Given the description of an element on the screen output the (x, y) to click on. 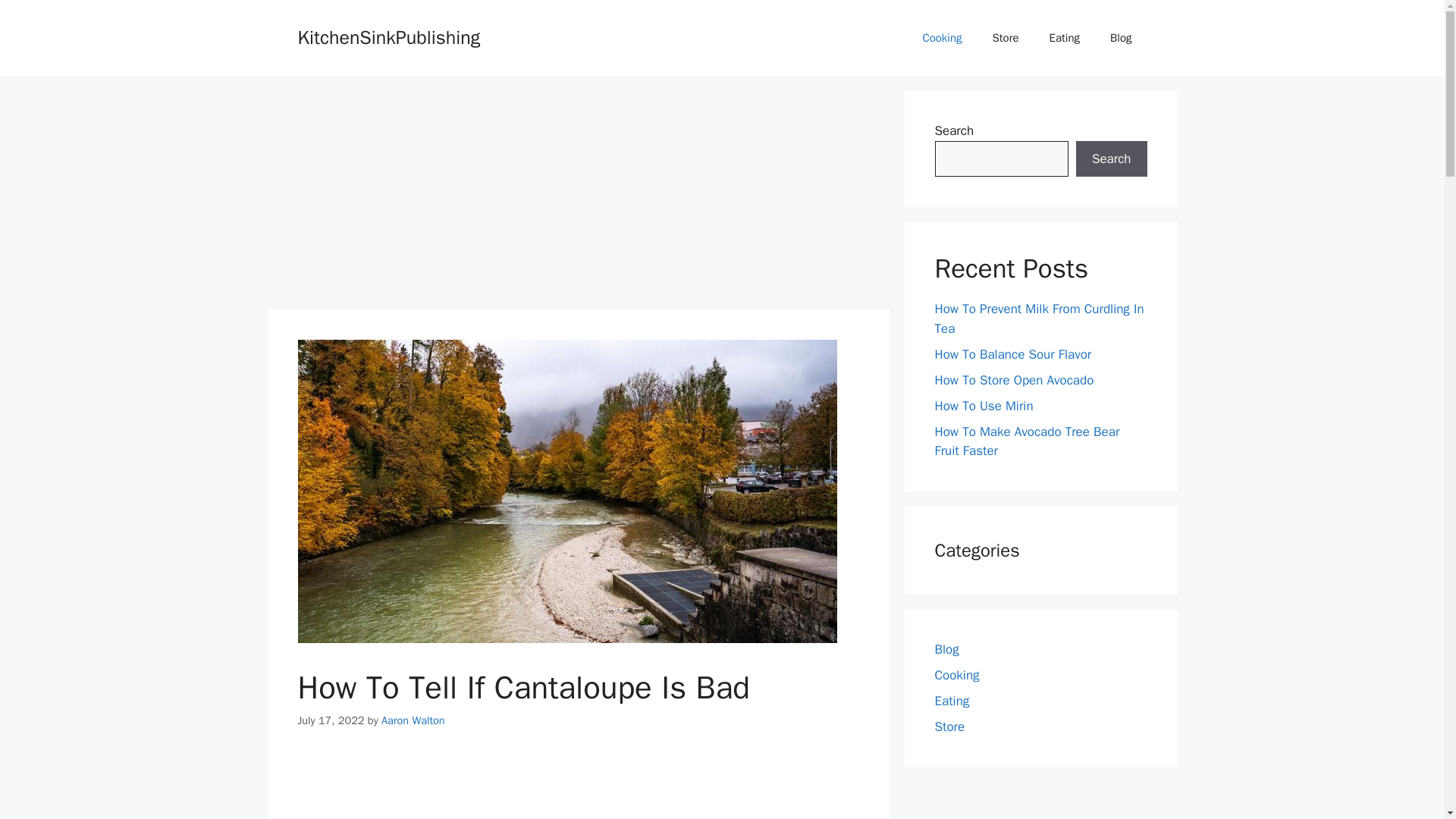
Eating (951, 700)
Eating (1063, 37)
Cooking (956, 675)
How To Balance Sour Flavor (1012, 353)
Advertisement (577, 196)
Search (1111, 158)
Store (948, 726)
View all posts by Aaron Walton (413, 720)
Cooking (941, 37)
How To Prevent Milk From Curdling In Tea (1038, 318)
How To Use Mirin (983, 405)
How To Make Avocado Tree Bear Fruit Faster (1026, 440)
KitchenSinkPublishing (388, 37)
Aaron Walton (413, 720)
How To Store Open Avocado (1013, 379)
